Given the description of an element on the screen output the (x, y) to click on. 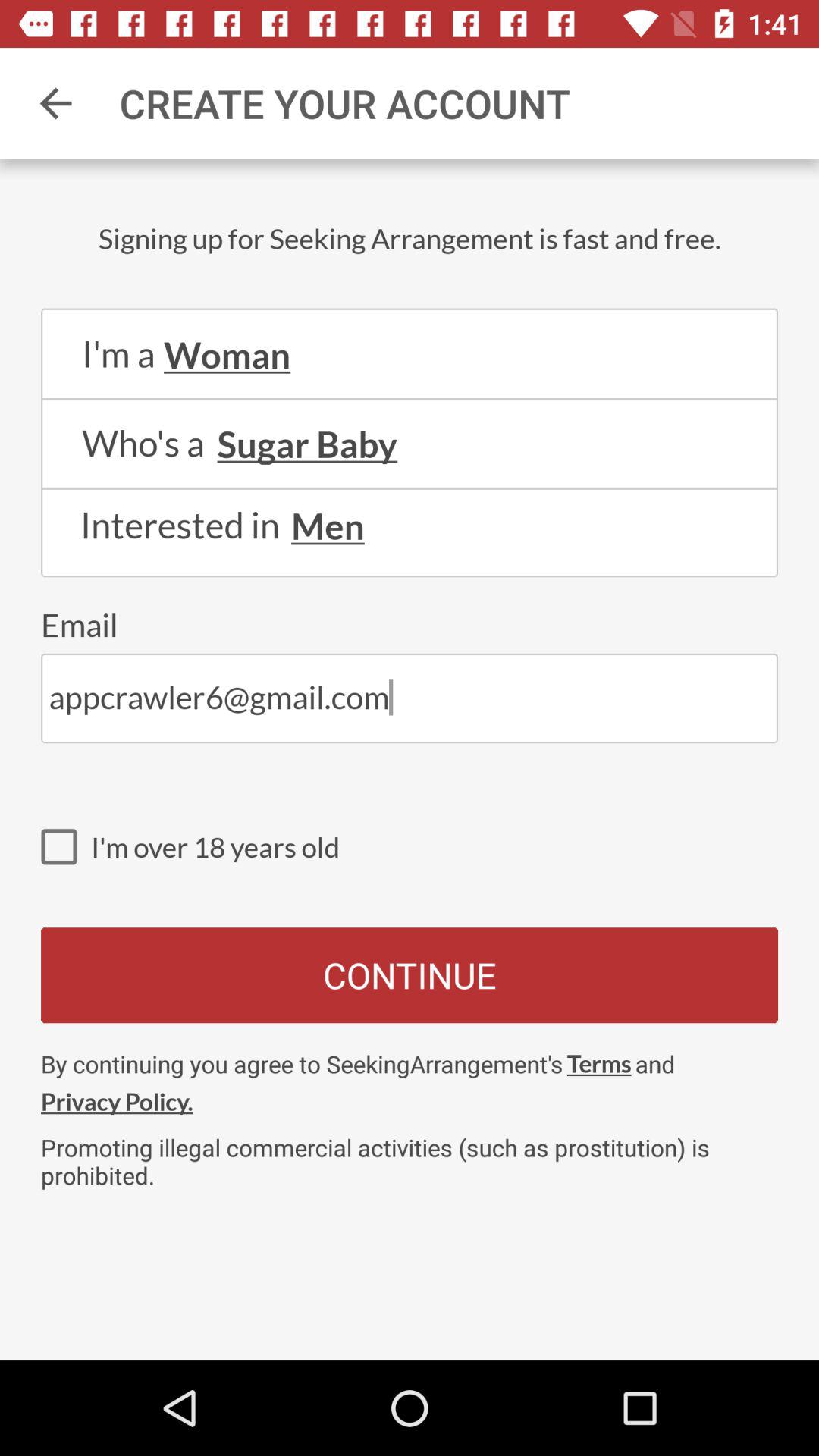
click icon next to and icon (599, 1063)
